Given the description of an element on the screen output the (x, y) to click on. 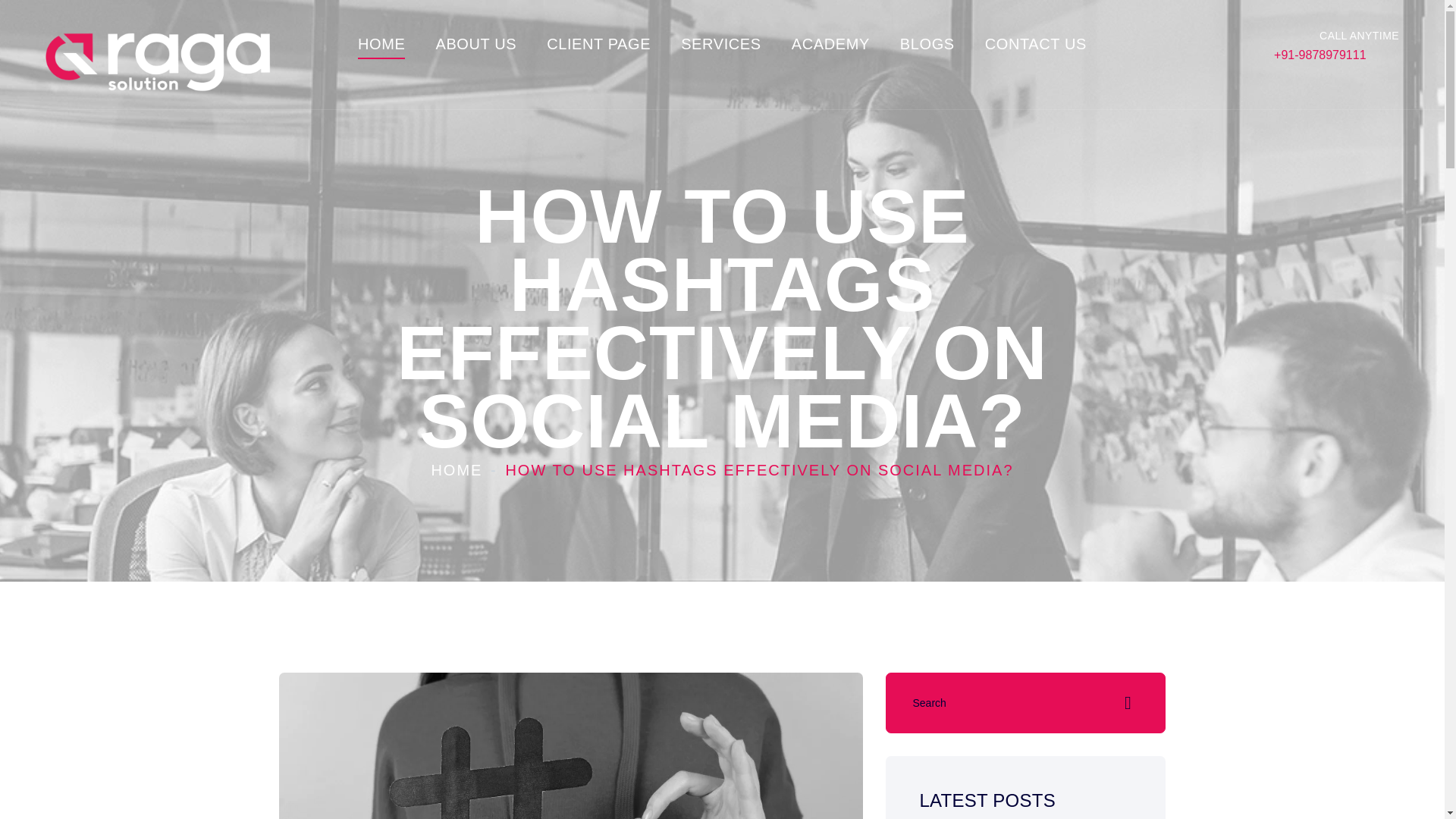
CLIENT PAGE (598, 43)
HOME (381, 43)
CONTACT US (1035, 43)
HOME (455, 469)
BLOGS (927, 43)
SERVICES (721, 43)
RaGa Advertisers (159, 52)
RaGa Advertisers (159, 61)
CALL ANYTIME (1336, 33)
ACADEMY (830, 43)
